Given the description of an element on the screen output the (x, y) to click on. 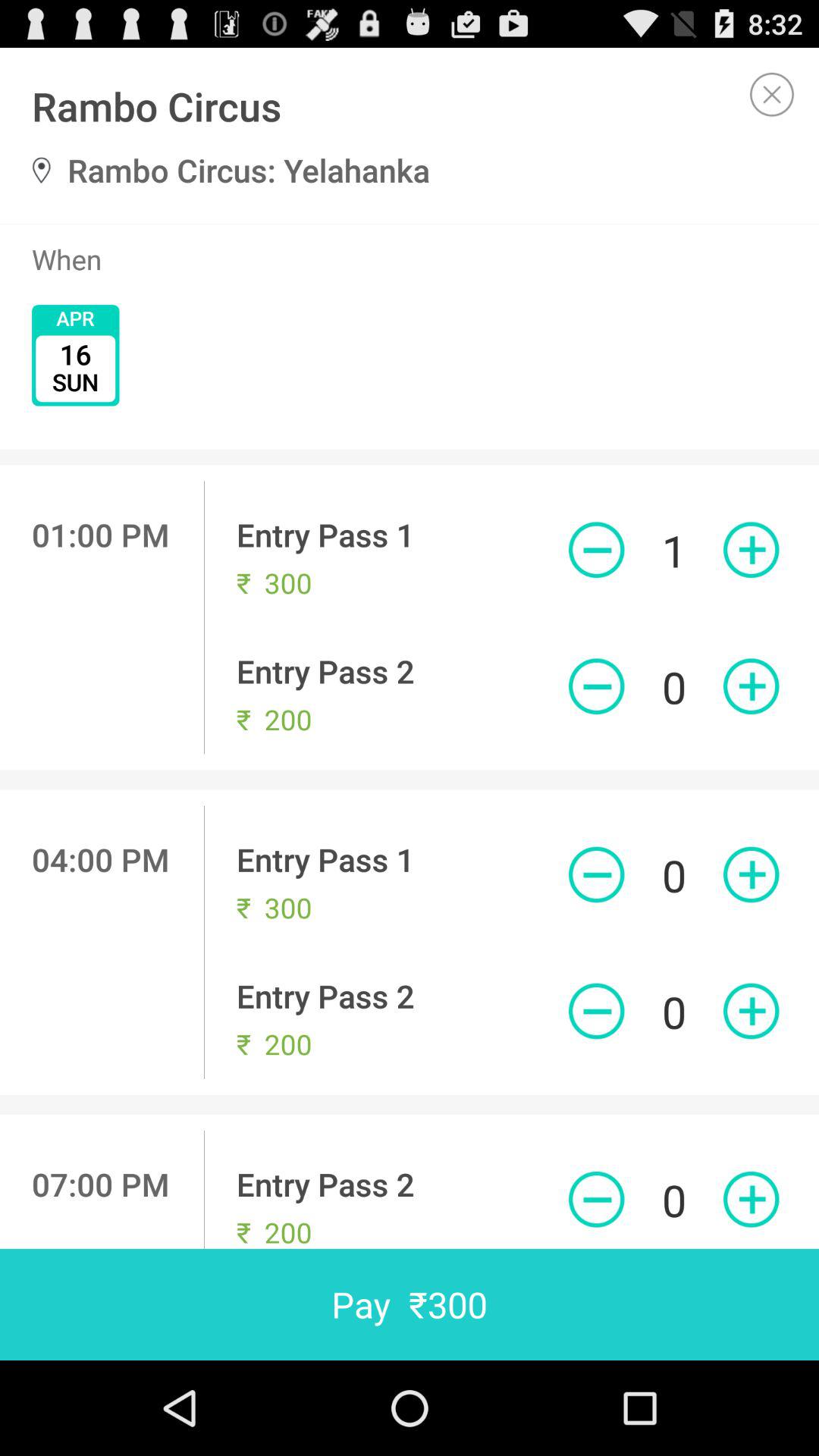
subtract one (596, 1011)
